Given the description of an element on the screen output the (x, y) to click on. 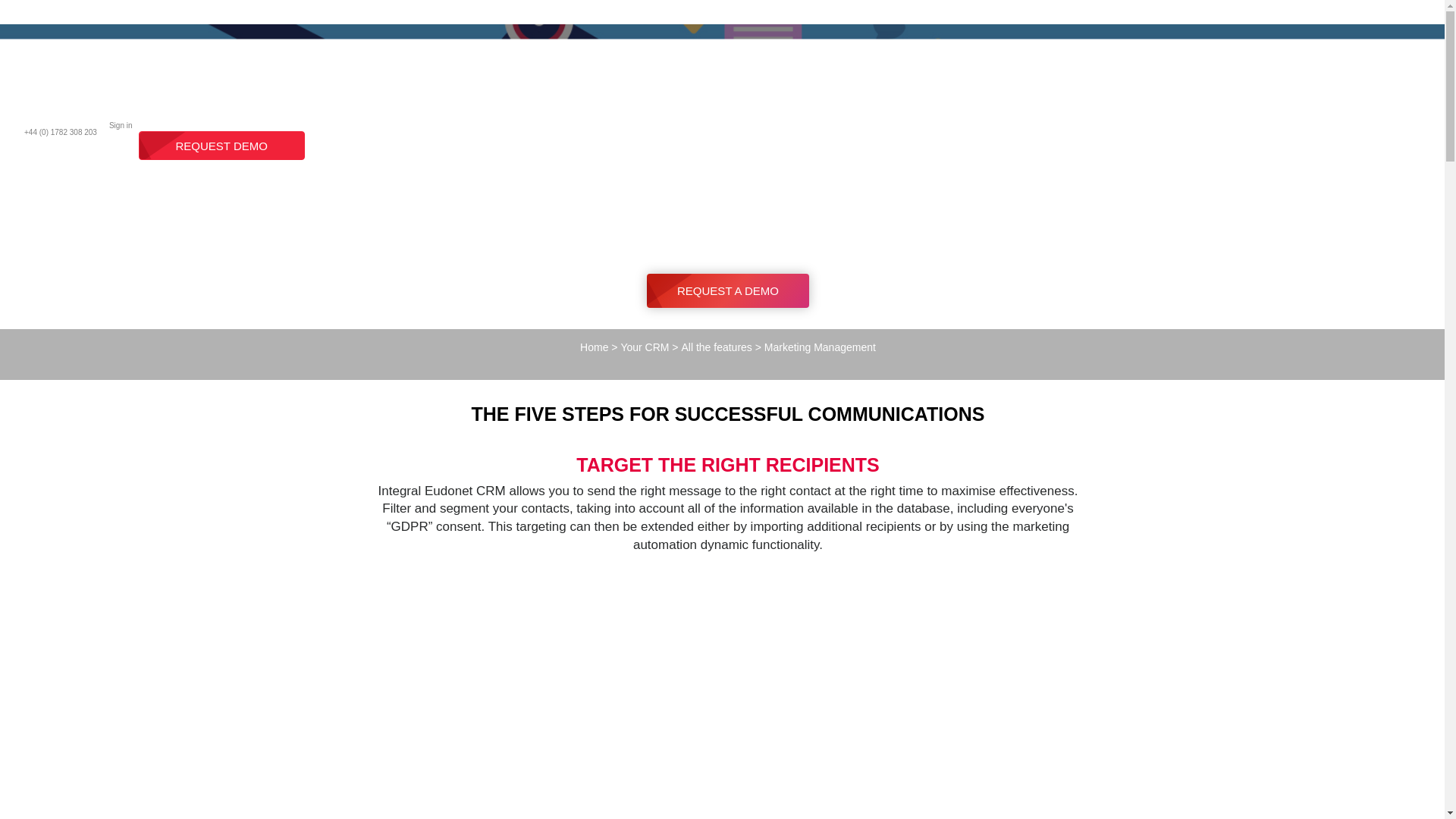
EUDOSTORE (245, 57)
YOUR CRM (42, 57)
BLOG (319, 57)
OUR SERVICES (141, 57)
